Given the description of an element on the screen output the (x, y) to click on. 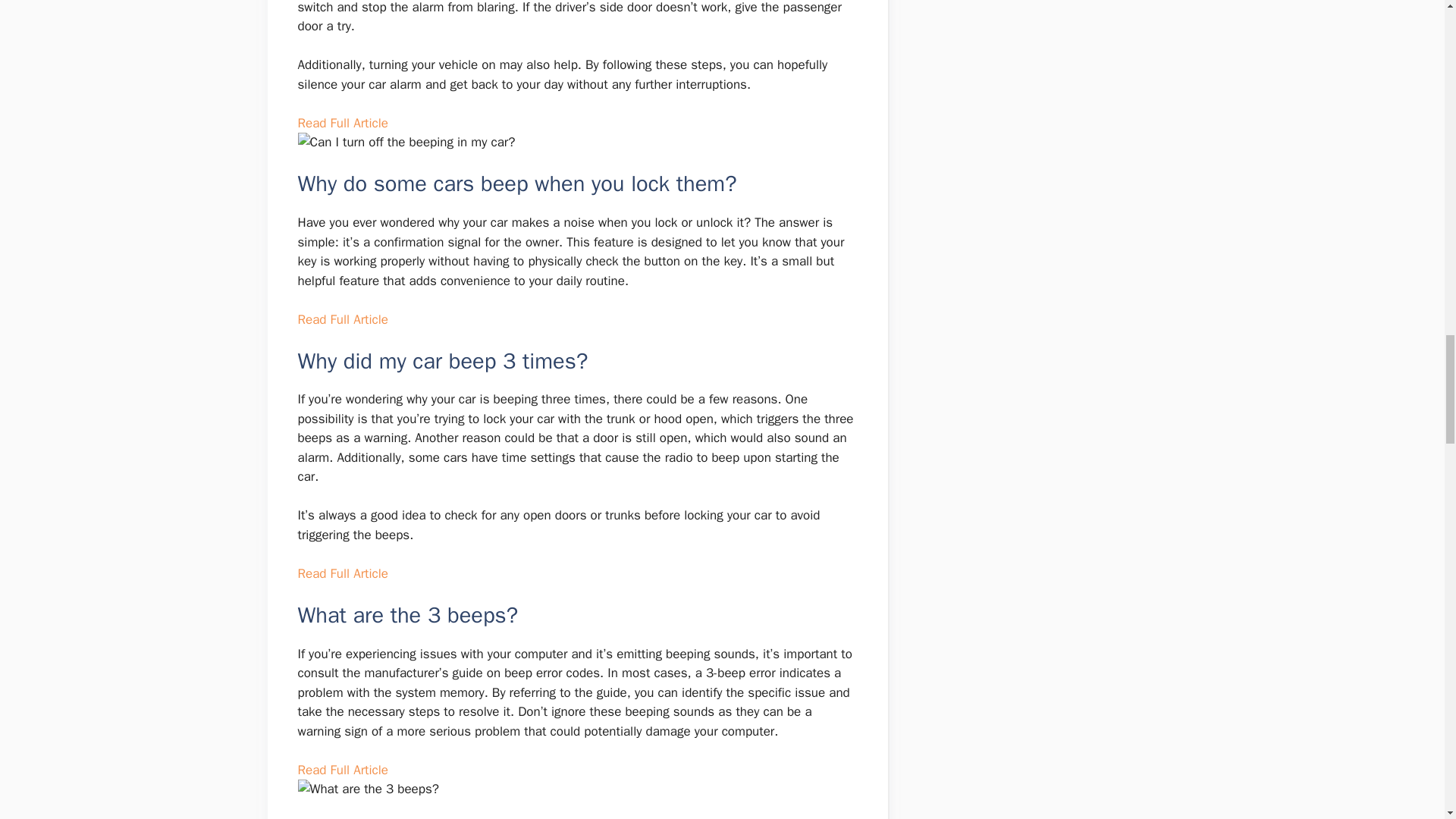
Read Full Article (342, 319)
Read Full Article (342, 770)
Read Full Article (342, 573)
Read Full Article (342, 123)
